Given the description of an element on the screen output the (x, y) to click on. 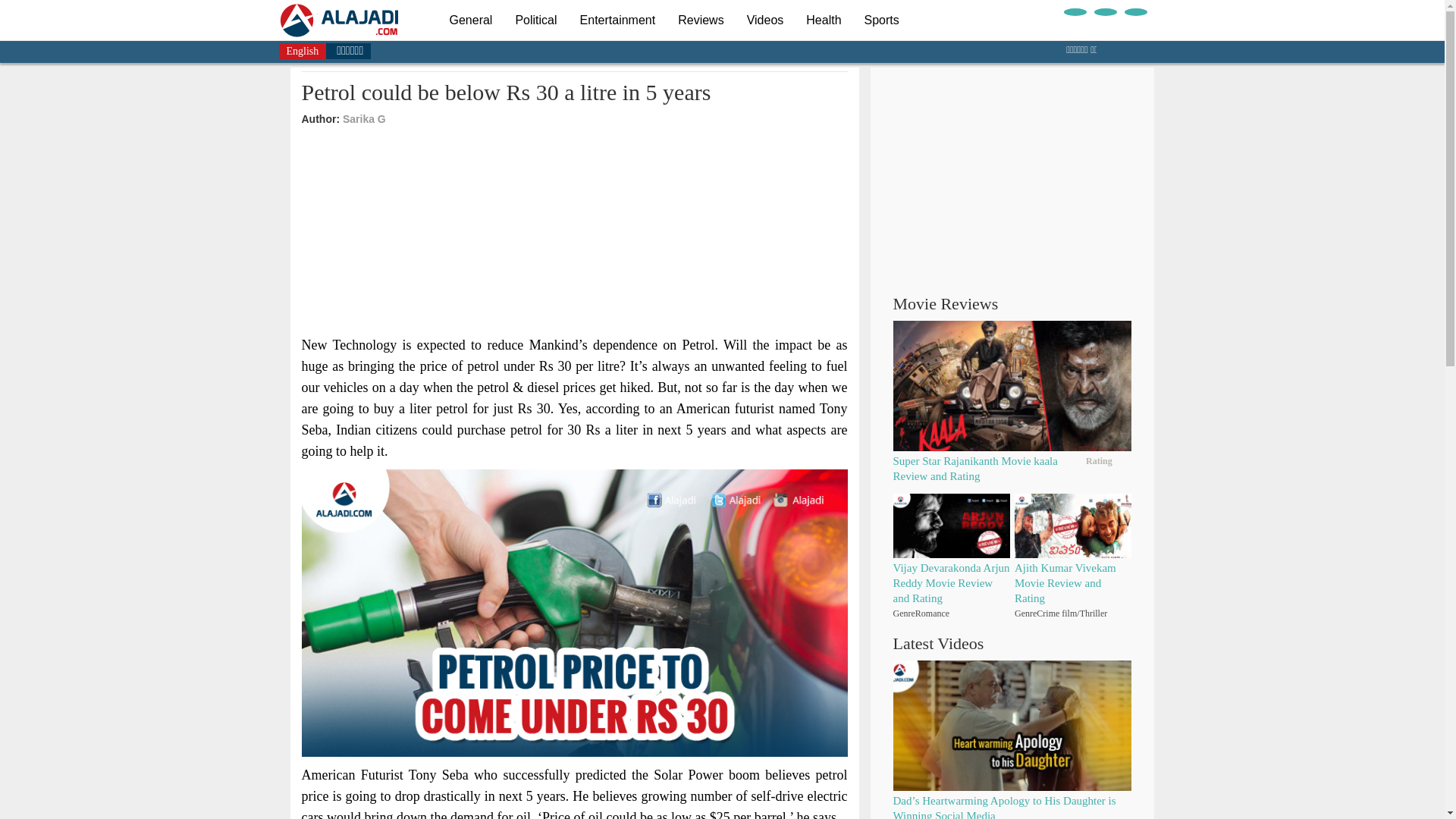
Reviews (700, 20)
Political (535, 20)
General (470, 20)
Posts by Sarika G (363, 119)
Reviews (700, 20)
Sarika G (363, 119)
Entertainment (617, 20)
Twitter (1104, 11)
Health (822, 20)
Videos (764, 20)
Videos (764, 20)
Advertisement (1011, 173)
Political (535, 20)
Sports (882, 20)
Advertisement (574, 233)
